Given the description of an element on the screen output the (x, y) to click on. 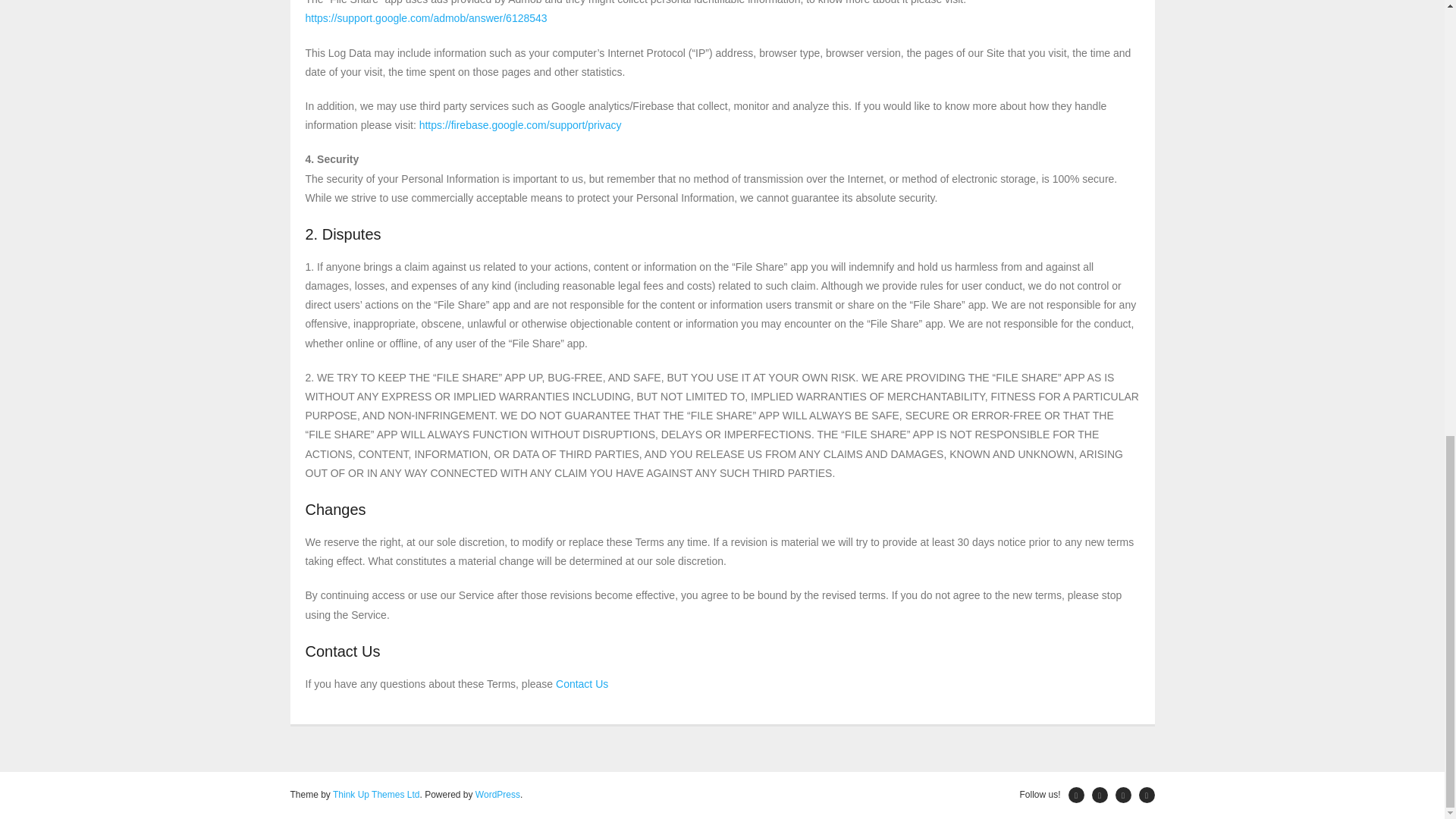
WordPress (497, 794)
Think Up Themes Ltd (376, 794)
Contact Us (580, 684)
